Given the description of an element on the screen output the (x, y) to click on. 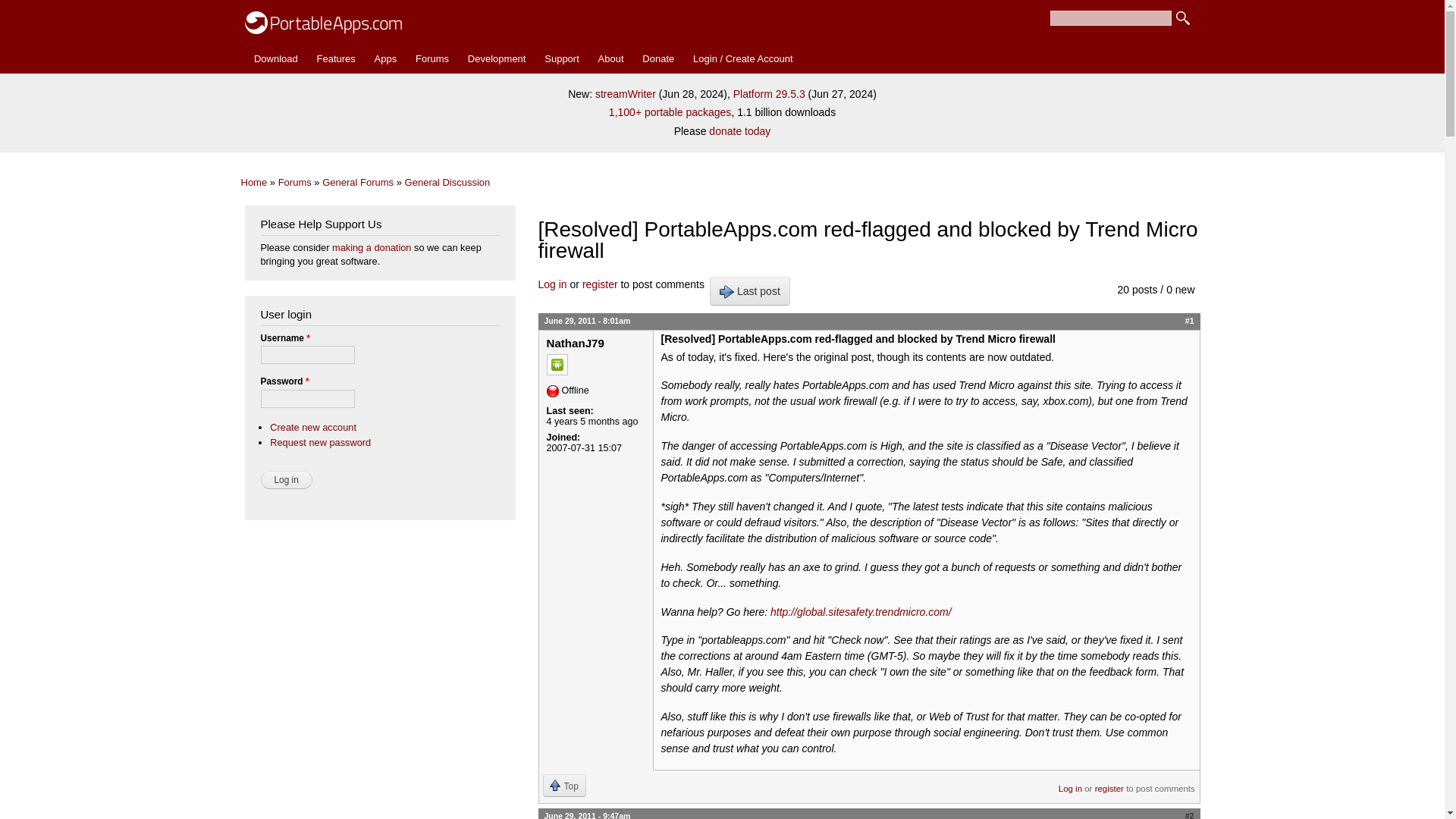
Donate (658, 59)
Forums (294, 182)
Enter the terms you wish to search for. (1109, 17)
register (599, 284)
Search (1182, 17)
Platform 29.5.3 (769, 93)
About (610, 59)
Skip to main content (690, 1)
donate today (739, 131)
General Forums (357, 182)
Log in (552, 284)
Apps (385, 59)
Jump to top of page (564, 784)
Support (561, 59)
Home (322, 19)
